Given the description of an element on the screen output the (x, y) to click on. 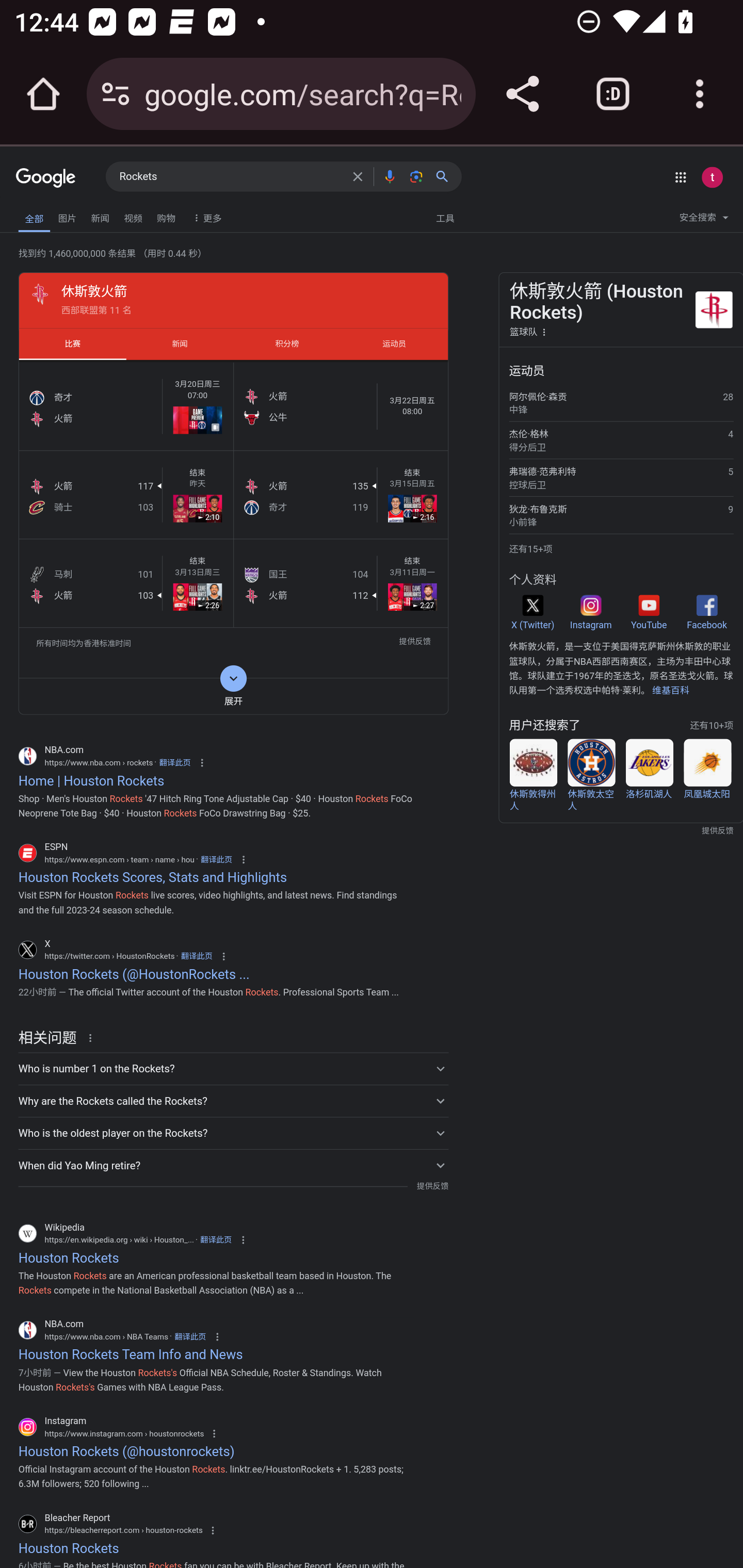
Open the home page (43, 93)
Connection is secure (115, 93)
Share (522, 93)
Switch or close tabs (612, 93)
Customize and control Google Chrome (699, 93)
清除 (357, 176)
按语音搜索 (389, 176)
按图搜索 (415, 176)
搜索 (446, 176)
Google 应用 (680, 176)
Google 账号： test appium (testappium002@gmail.com) (712, 176)
Google (45, 178)
Rockets (229, 177)
无障碍功能反馈 (42, 212)
图片 (67, 216)
新闻 (99, 216)
视频 (133, 216)
购物 (166, 216)
更多 (205, 216)
安全搜索 (703, 219)
工具 (444, 216)
休斯敦火箭 西部联盟第 11 名 休斯敦火箭 西部联盟第 11 名 (232, 299)
比赛 (71, 343)
新闻 (179, 343)
积分榜 (286, 343)
运动员 (394, 343)
提供反馈 (414, 642)
展开 (232, 696)
翻译此页 (174, 761)
翻译此页 (215, 858)
翻译此页 (196, 956)
关于这条结果的详细信息 (93, 1037)
Who is number 1 on the Rockets? (232, 1068)
Why are the Rockets called the Rockets? (232, 1099)
Who is the oldest player on the Rockets? (232, 1132)
When did Yao Ming retire? (232, 1164)
提供反馈 (432, 1185)
翻译此页 (215, 1240)
翻译此页 (189, 1336)
